Given the description of an element on the screen output the (x, y) to click on. 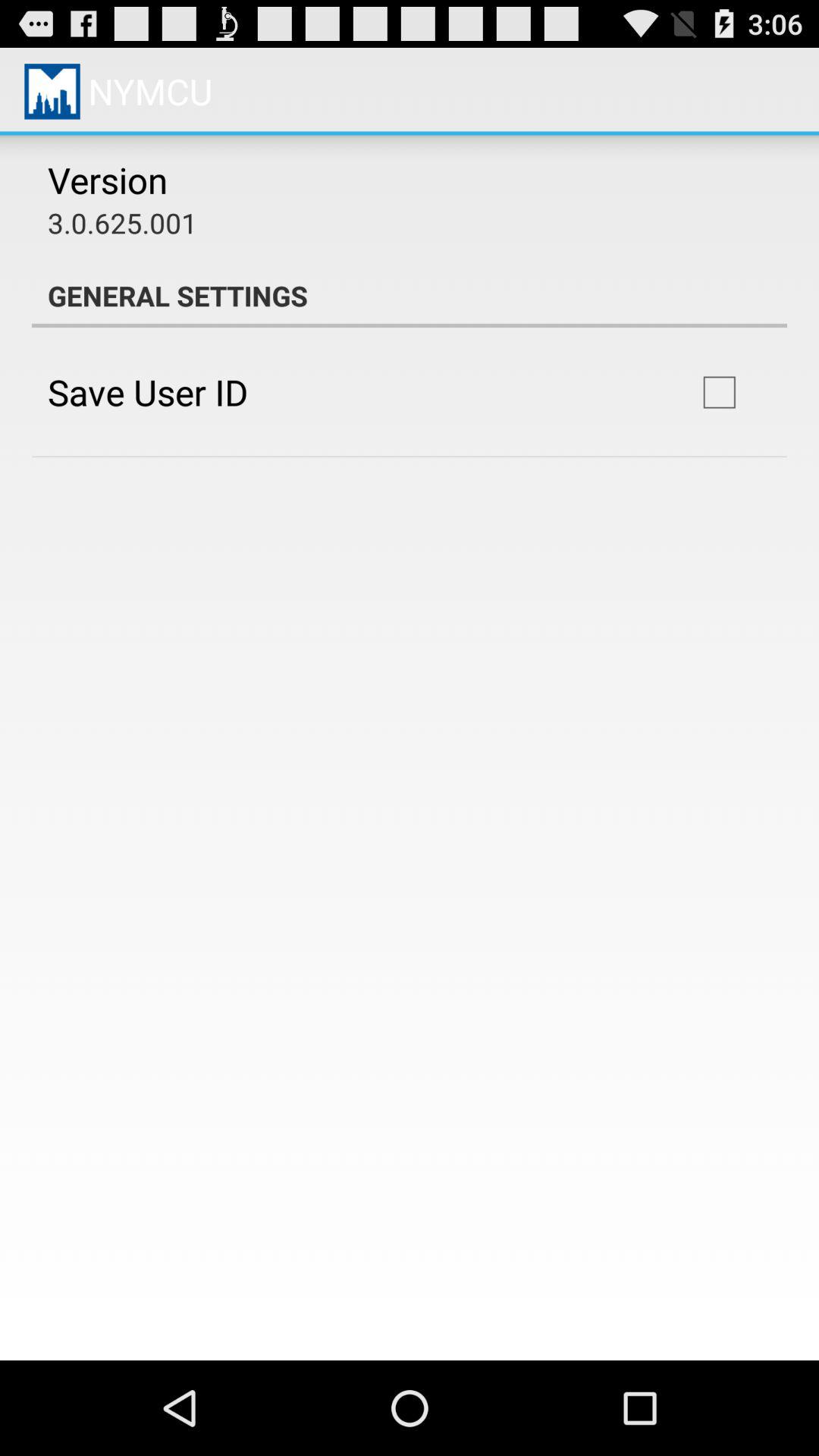
jump until the general settings app (409, 295)
